Given the description of an element on the screen output the (x, y) to click on. 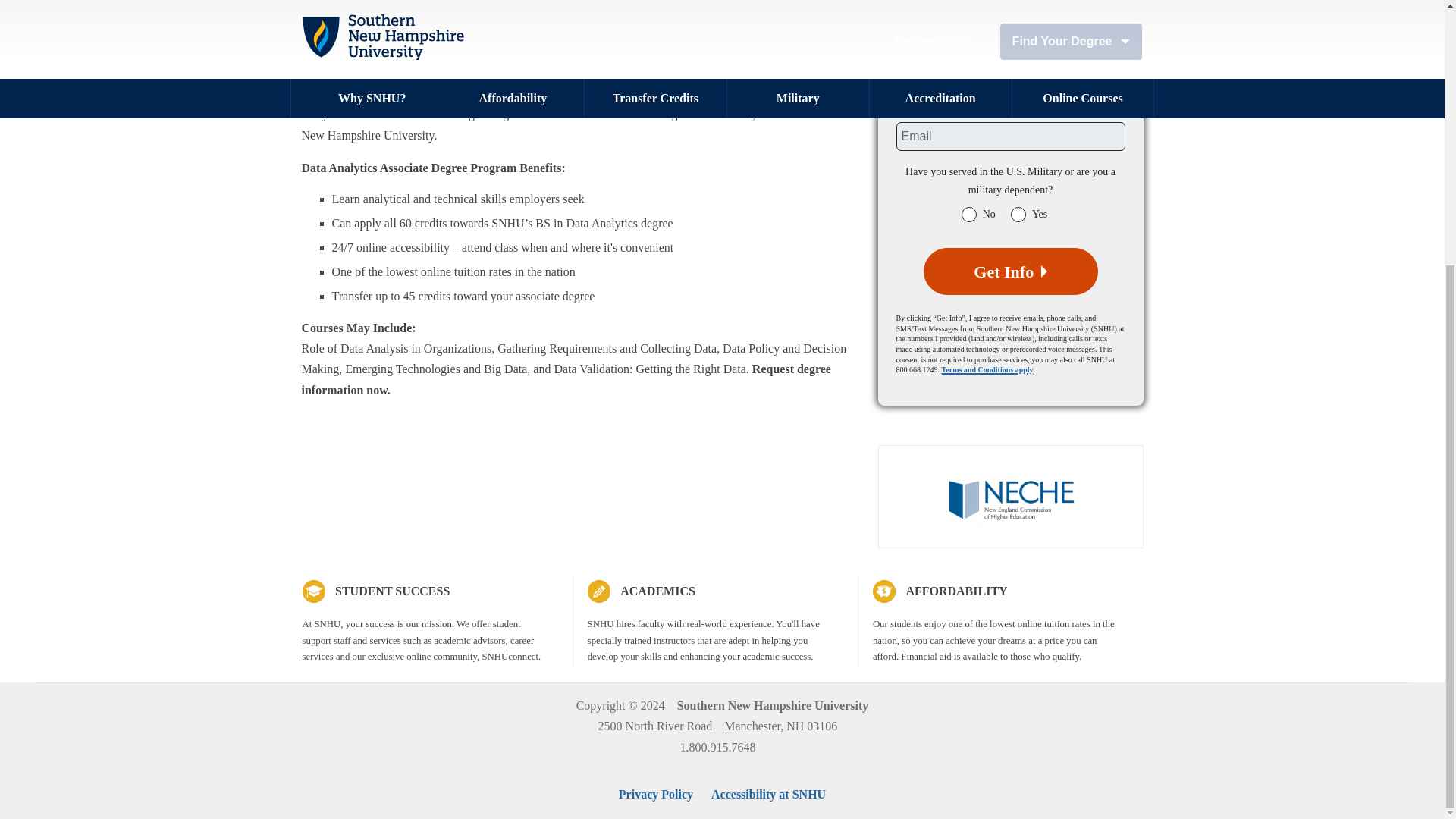
Pencil (599, 590)
graduation cap (312, 590)
Get Info (1010, 271)
Terms and Conditions apply (987, 369)
Piggy Bank (883, 590)
